Given the description of an element on the screen output the (x, y) to click on. 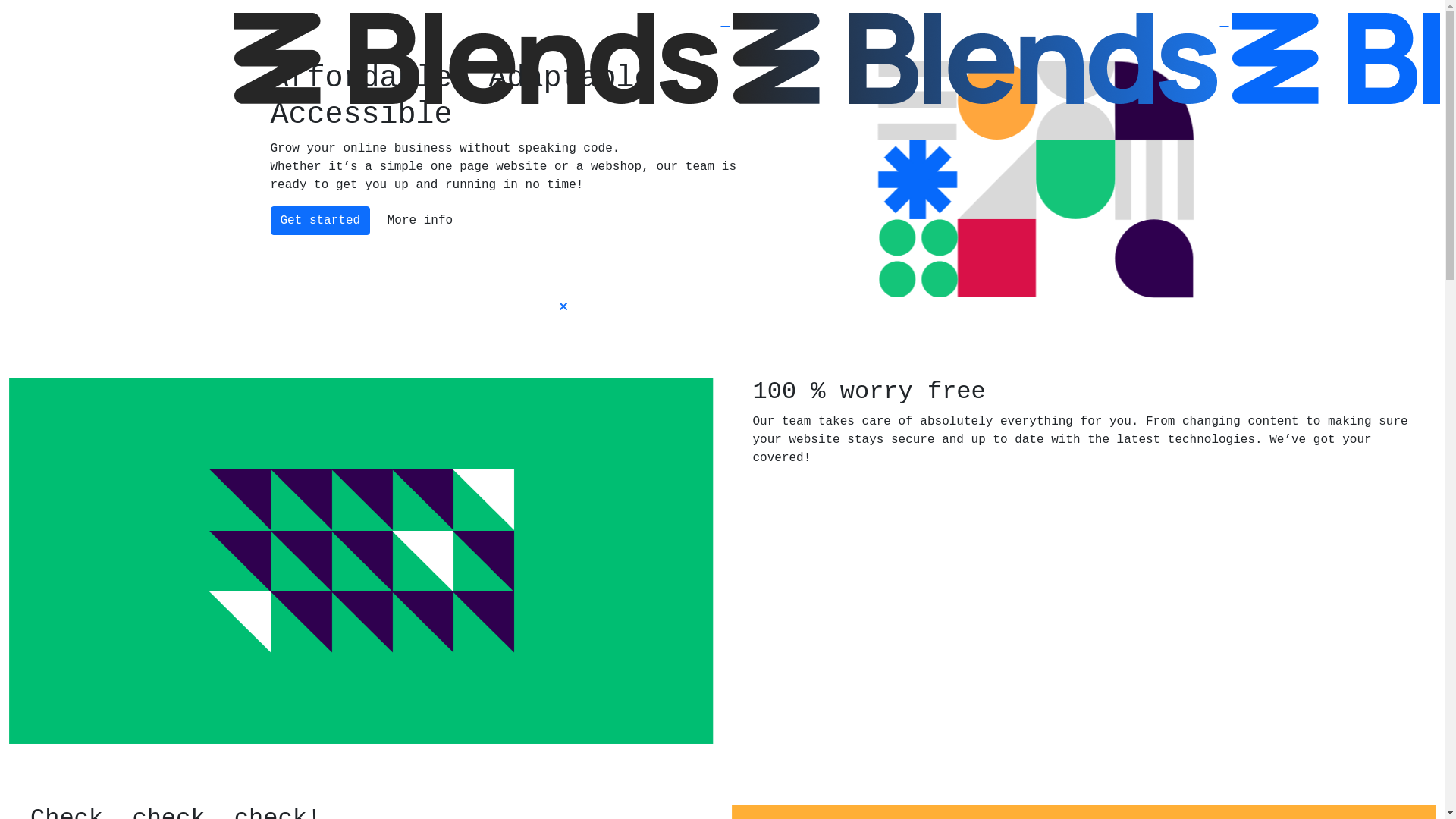
More info Element type: text (419, 220)
Get started Element type: text (319, 220)
